Given the description of an element on the screen output the (x, y) to click on. 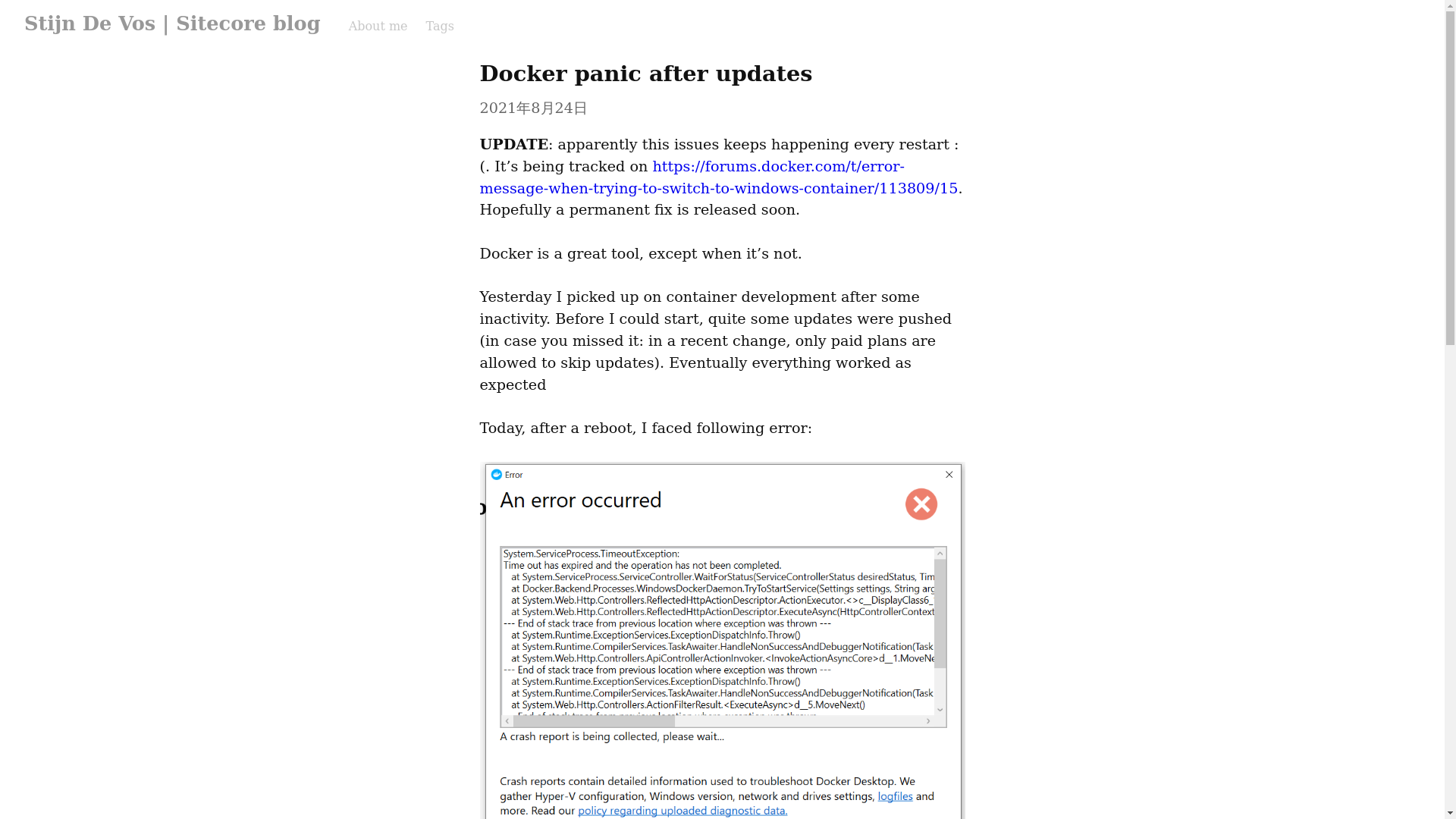
About me (378, 25)
Tags (440, 25)
